Given the description of an element on the screen output the (x, y) to click on. 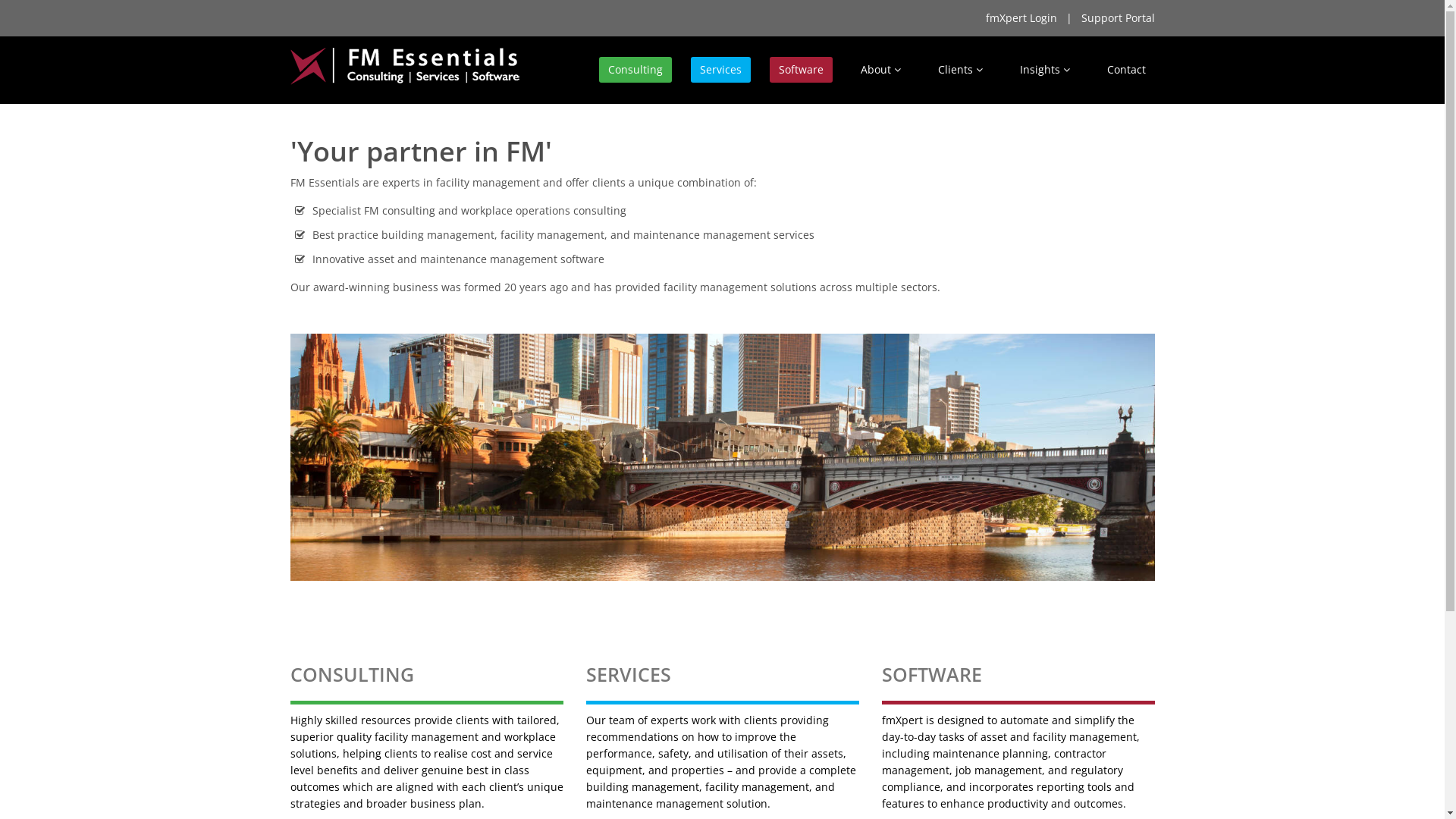
Support Portal Element type: text (1117, 17)
Clients Element type: text (959, 69)
fmXpert Login Element type: text (1021, 17)
Home - FM consulting Element type: hover (721, 457)
Software Element type: text (799, 69)
Consulting Element type: text (635, 69)
Services Element type: text (719, 69)
Insights Element type: text (1044, 69)
About Element type: text (879, 69)
Contact Element type: text (1126, 69)
